Given the description of an element on the screen output the (x, y) to click on. 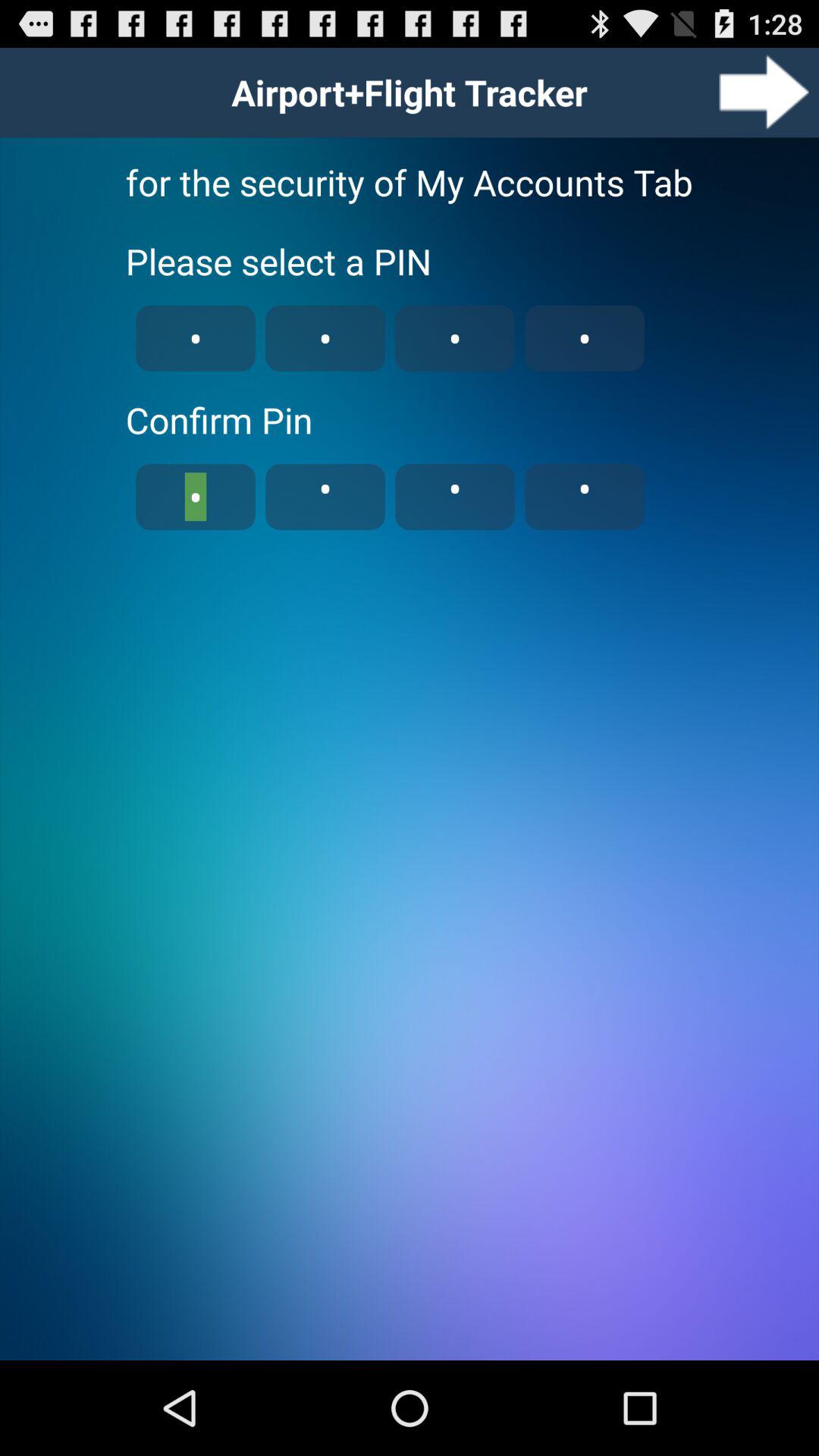
go to next page (763, 92)
